Given the description of an element on the screen output the (x, y) to click on. 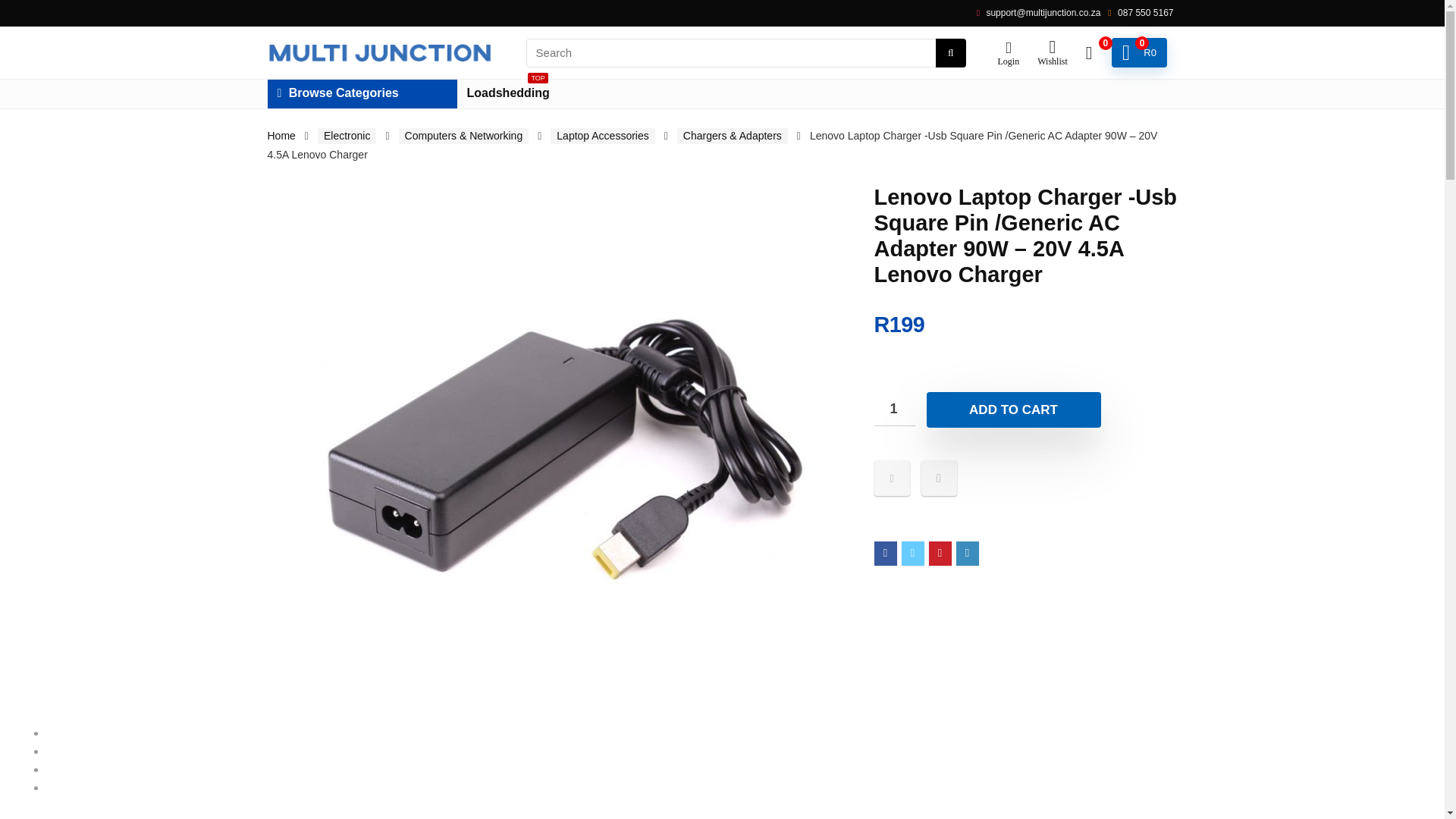
Browse Categories (360, 93)
1 (1139, 52)
Electronic (893, 408)
ADD TO CART (508, 93)
Home (346, 135)
Laptop Accessories (1013, 409)
087 550 5167 (280, 135)
